Given the description of an element on the screen output the (x, y) to click on. 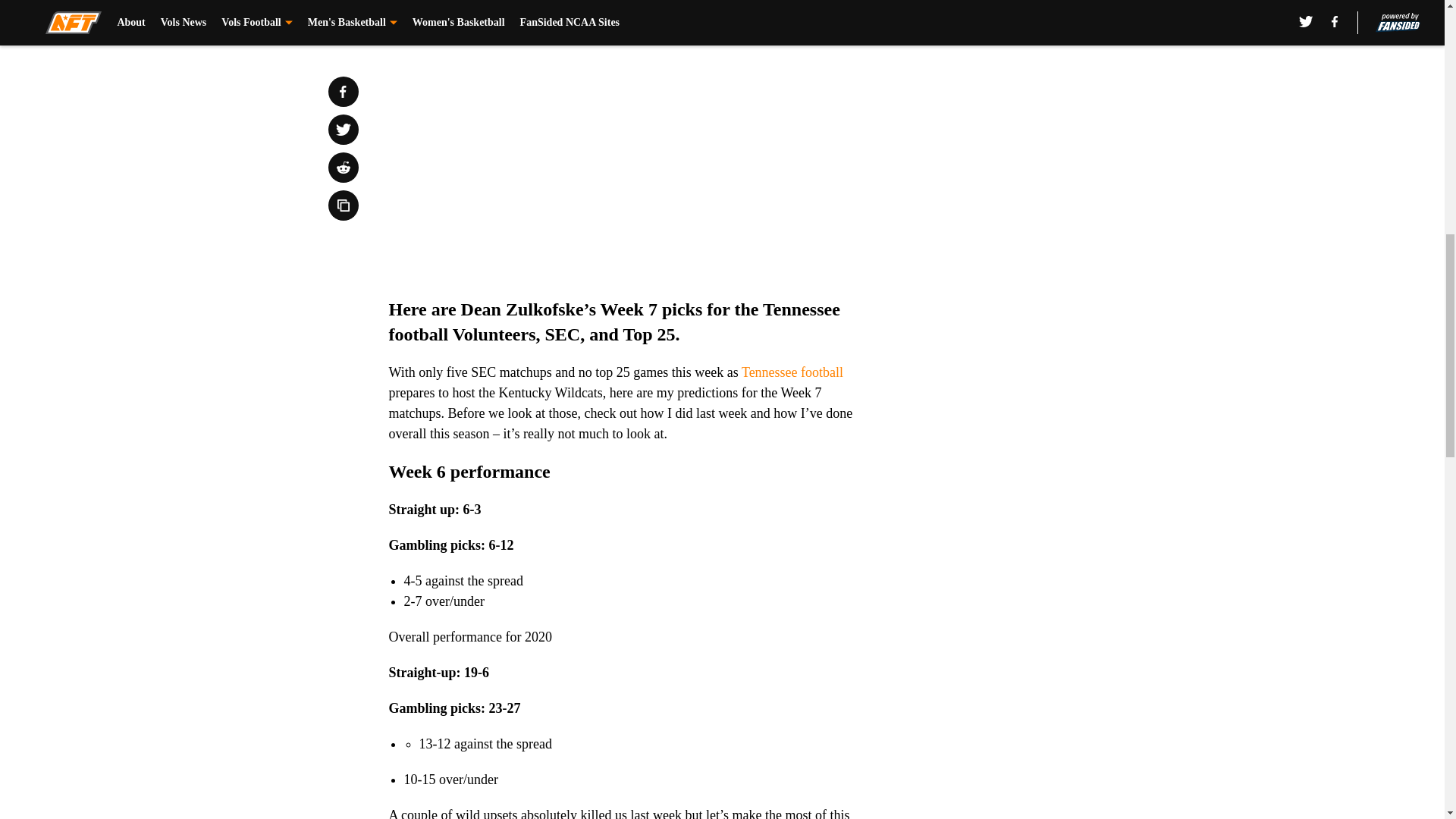
Tennessee football (792, 372)
